Given the description of an element on the screen output the (x, y) to click on. 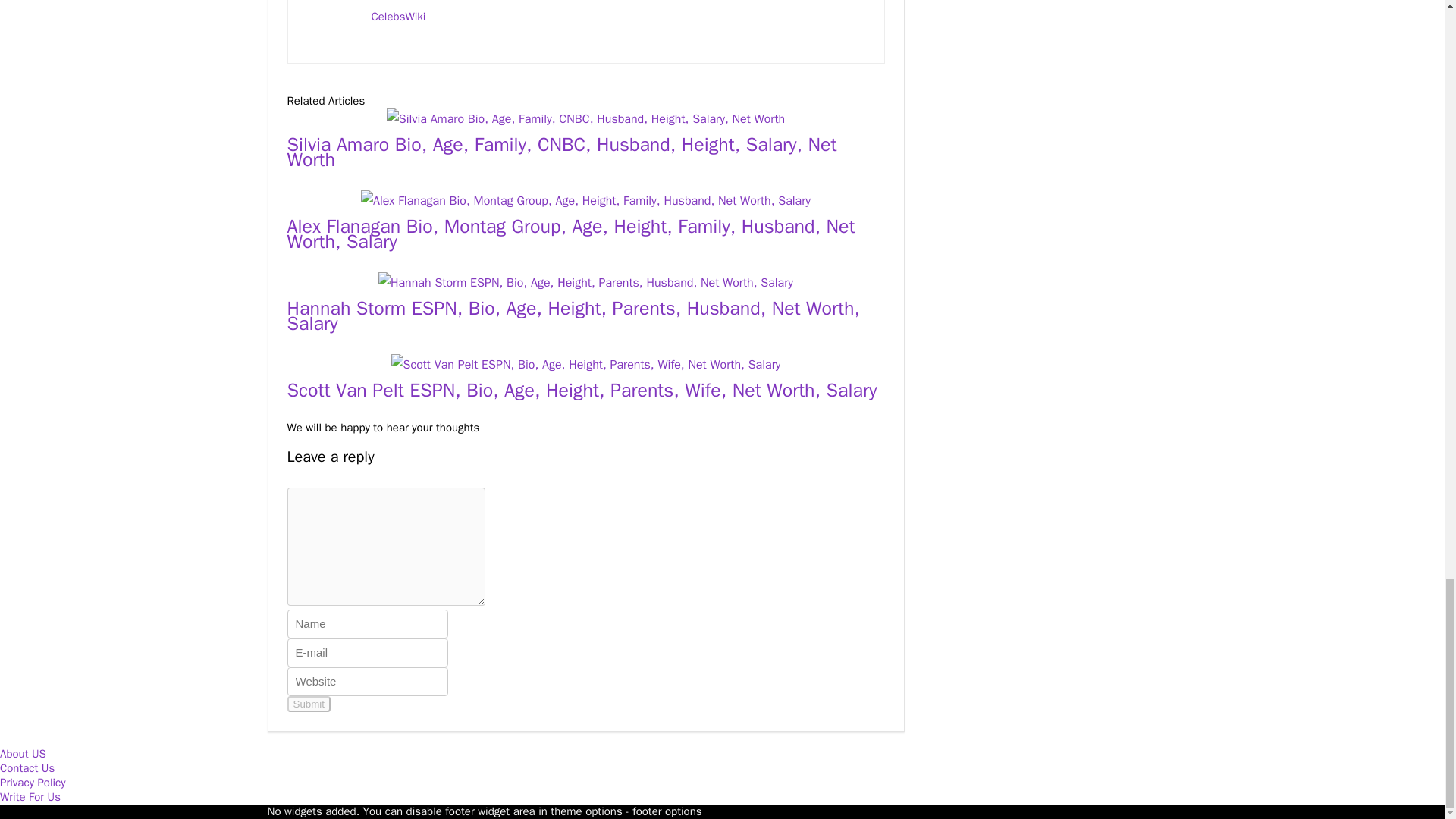
CelebsWiki (398, 16)
Submit (308, 703)
Submit (308, 703)
